Given the description of an element on the screen output the (x, y) to click on. 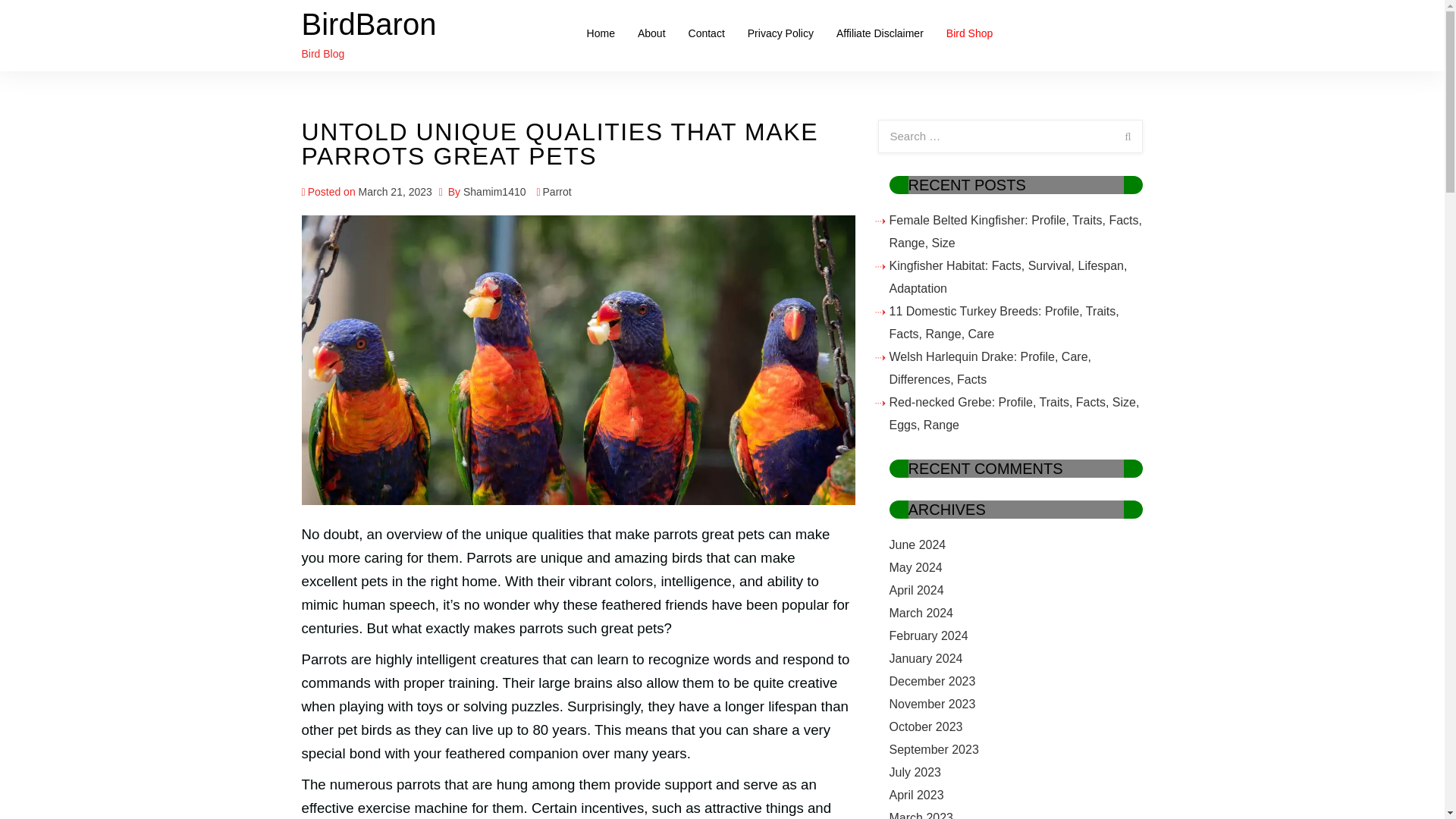
April 2024 (915, 590)
June 2024 (916, 544)
March 21, 2023 (395, 191)
May 2024 (915, 567)
Privacy Policy (780, 32)
April 2023 (915, 794)
March 2023 (920, 815)
Contact (706, 32)
September 2023 (933, 748)
Home (600, 32)
Welsh Harlequin Drake: Profile, Care, Differences, Facts (989, 367)
Parrot (557, 191)
About (651, 32)
July 2023 (914, 771)
